Given the description of an element on the screen output the (x, y) to click on. 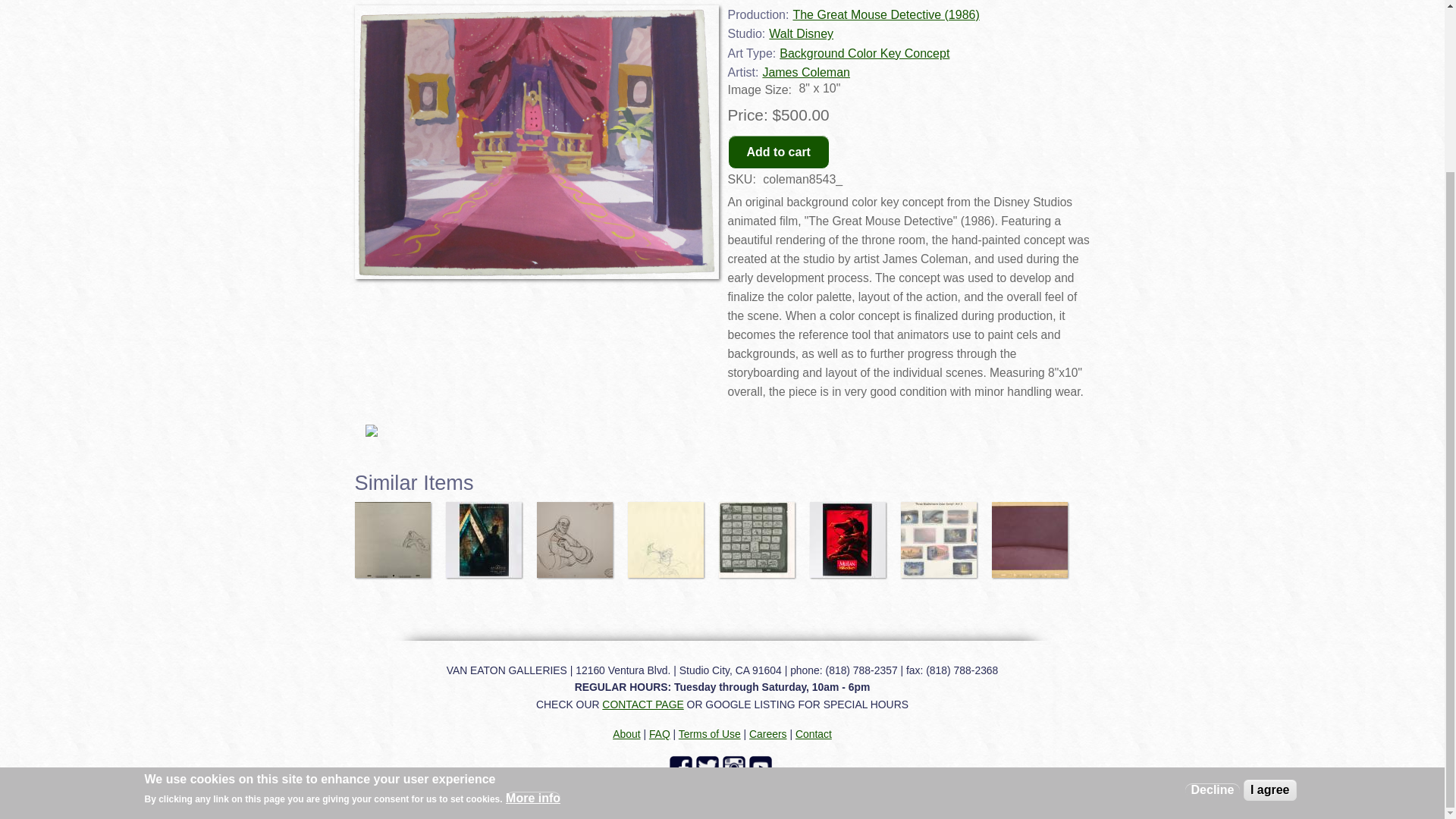
About (626, 734)
Add to cart (778, 151)
Follow Van Eaton Galleries on Twitter (708, 766)
Follow Van Eaton Galleries on YouTube (762, 766)
FAQ (659, 734)
Web and Business Development (1012, 792)
Careers (767, 734)
Follow Van Eaton Galleries on Facebook (681, 766)
Walt Disney (800, 33)
CONTACT PAGE (642, 704)
Terms of Use (709, 734)
Contact (812, 734)
James Coleman (805, 72)
Background Color Key Concept (863, 52)
